Given the description of an element on the screen output the (x, y) to click on. 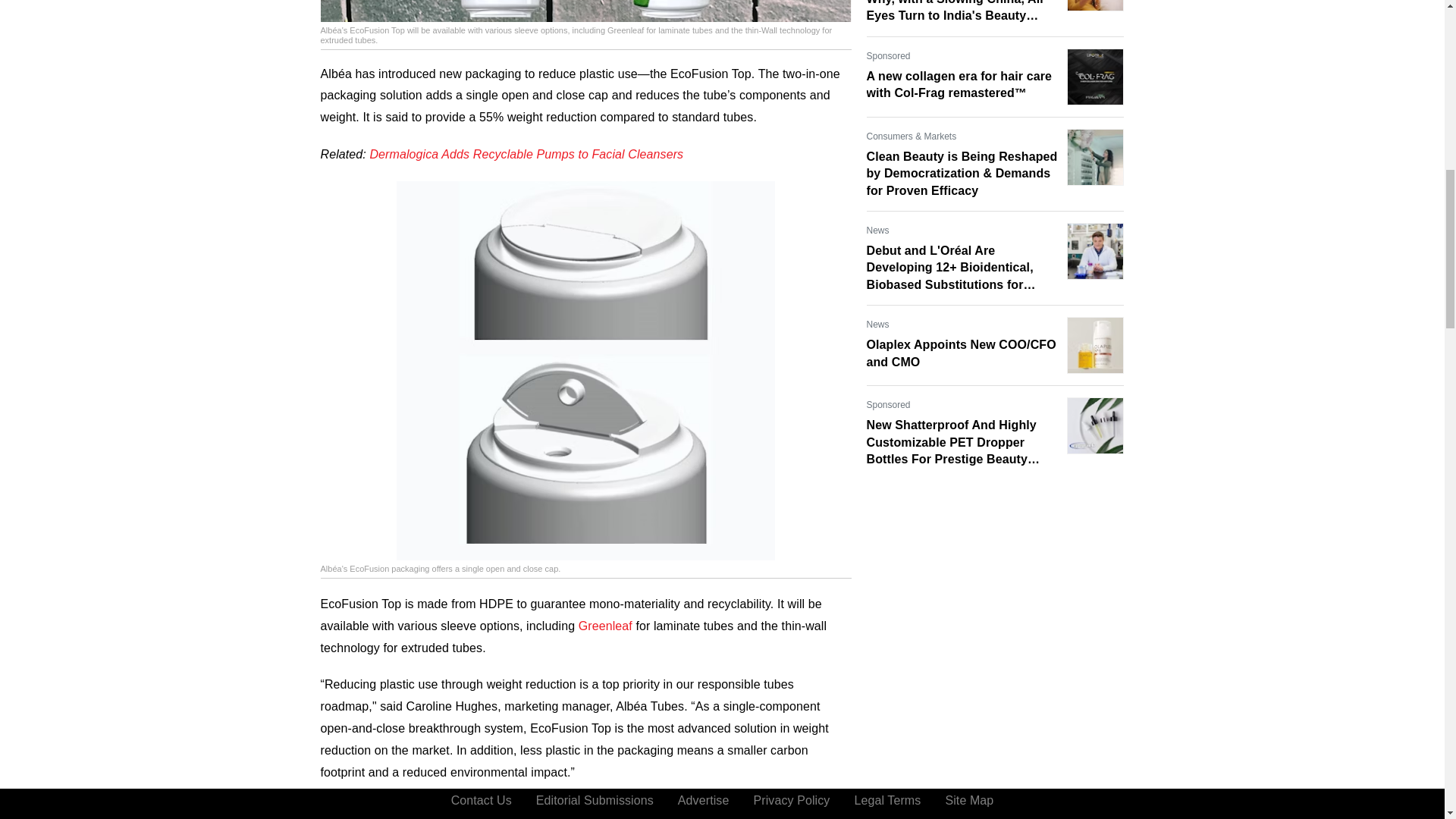
Share To facebook (371, 808)
Sponsored (888, 55)
Share To email (335, 808)
Share To twitter (444, 808)
Share To linkedin (408, 808)
